Given the description of an element on the screen output the (x, y) to click on. 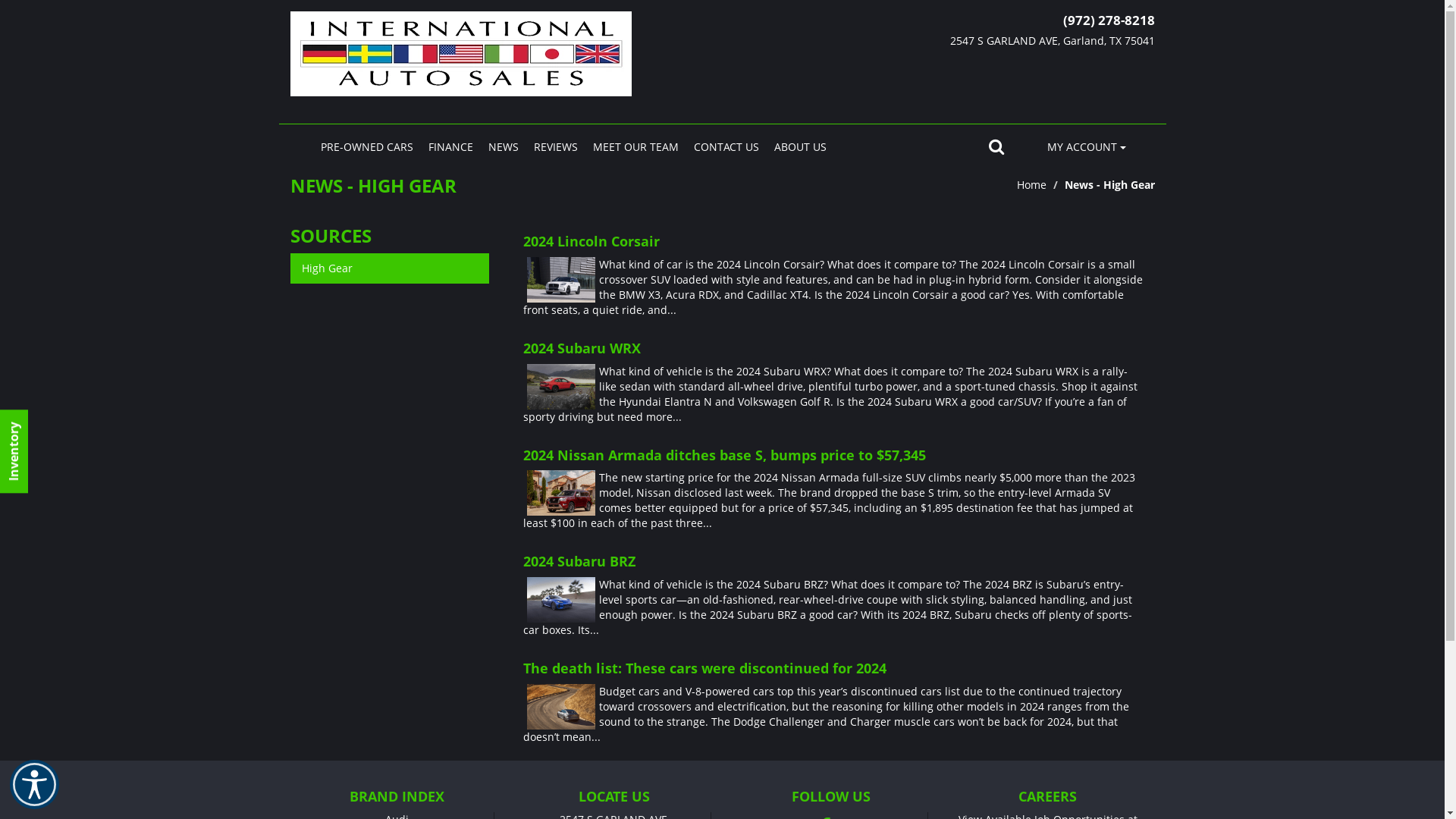
ABOUT US Element type: text (799, 146)
2024 Subaru BRZ Element type: text (833, 561)
PRE-OWNED CARS Element type: text (366, 146)
NEWS Element type: text (503, 146)
2024 Lincoln Corsair Element type: text (833, 241)
2024 Nissan Armada ditches base S, bumps price to $57,345 Element type: text (833, 455)
CONTACT US Element type: text (725, 146)
(972) 278-8218 Element type: text (1108, 19)
REVIEWS Element type: text (555, 146)
2024 Subaru WRX Element type: text (833, 348)
High Gear Element type: text (389, 268)
Home Element type: text (1030, 184)
MEET OUR TEAM Element type: text (635, 146)
FINANCE Element type: text (450, 146)
2547 S GARLAND AVE, Garland, TX 75041 Element type: text (1017, 40)
MY ACCOUNT Element type: text (1086, 146)
The death list: These cars were discontinued for 2024 Element type: text (833, 668)
